Given the description of an element on the screen output the (x, y) to click on. 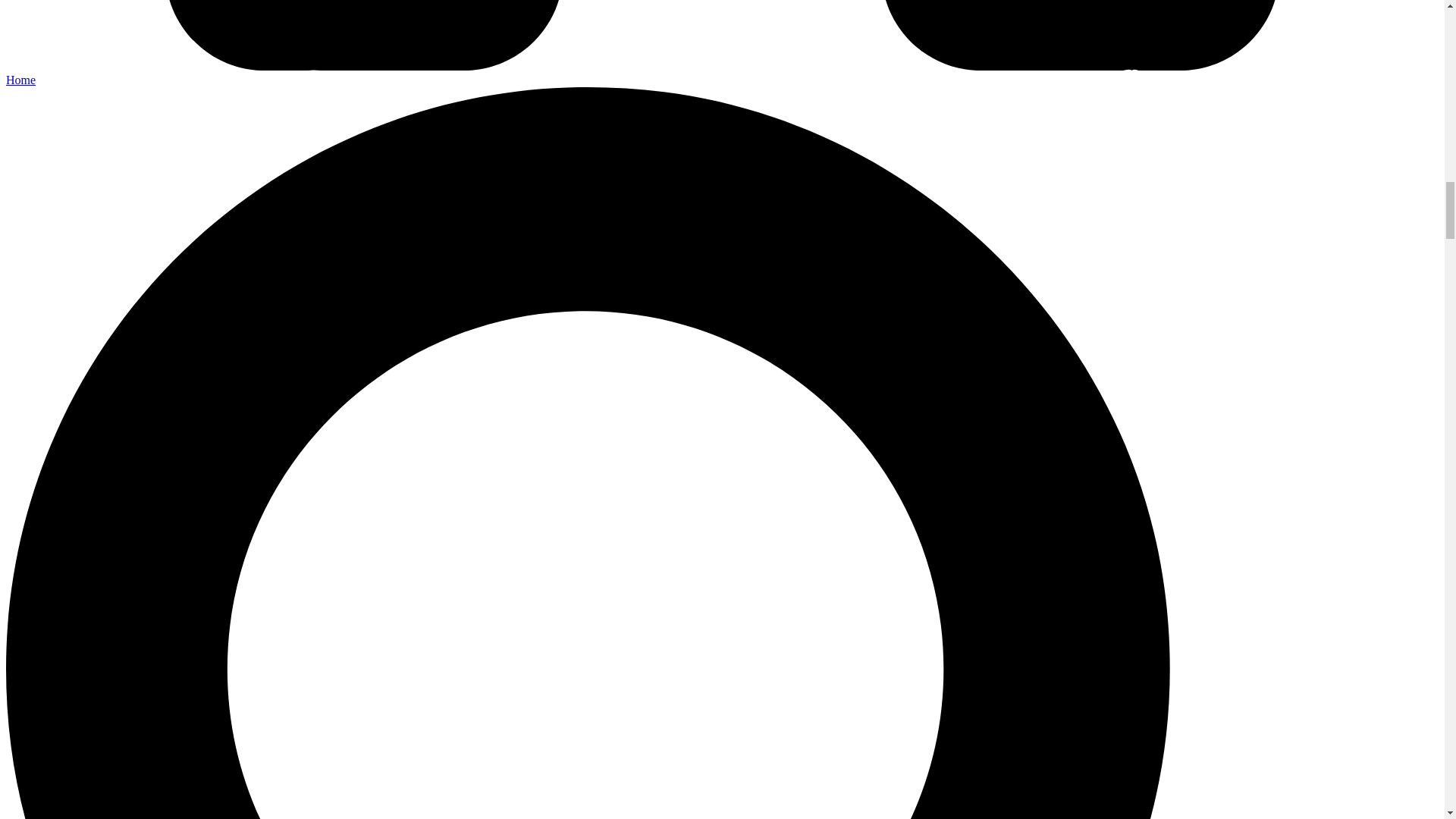
Home (19, 79)
